Given the description of an element on the screen output the (x, y) to click on. 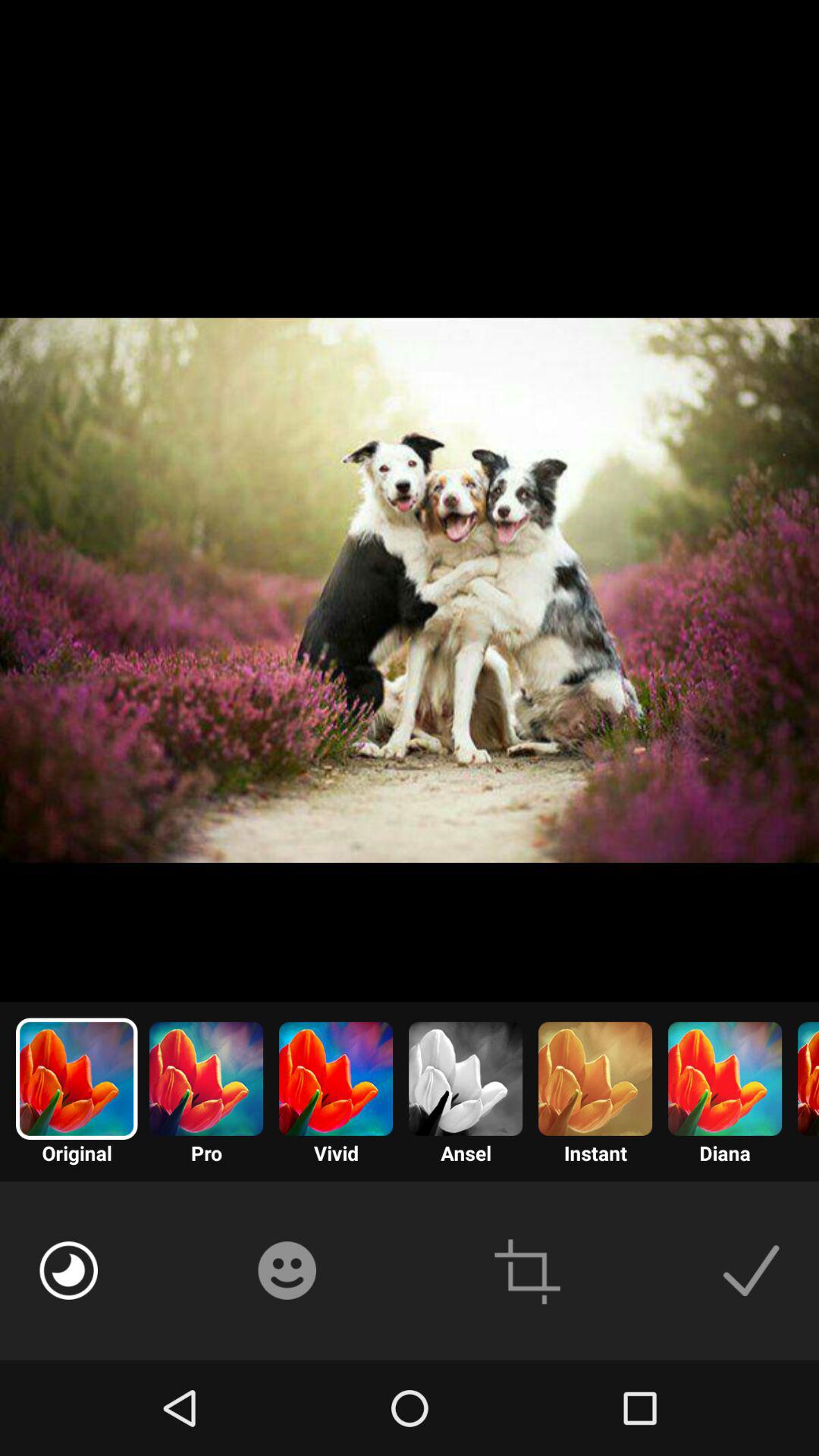
change lighting (68, 1270)
